Given the description of an element on the screen output the (x, y) to click on. 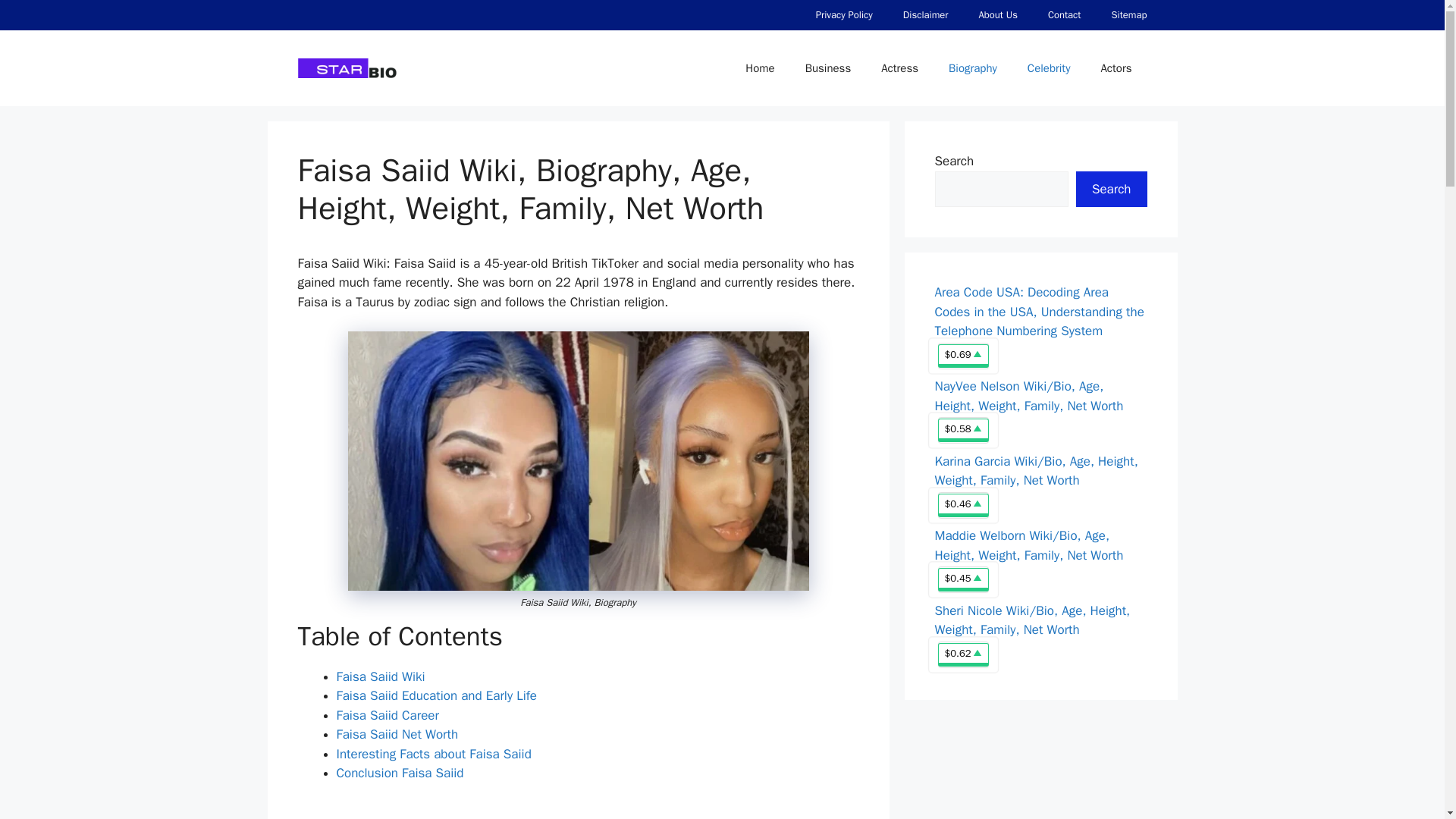
Actress (899, 67)
Actors (1115, 67)
Search (1111, 189)
Contact (1064, 15)
Conclusion Faisa Saiid (400, 772)
Faisa Saiid Net Worth (397, 734)
Faisa Saiid Career (387, 715)
Sitemap (1128, 15)
Interesting Facts about Faisa Saiid (433, 754)
Home (759, 67)
Biography (972, 67)
About Us (997, 15)
Faisa Saiid Wiki (380, 676)
Privacy Policy (844, 15)
